Given the description of an element on the screen output the (x, y) to click on. 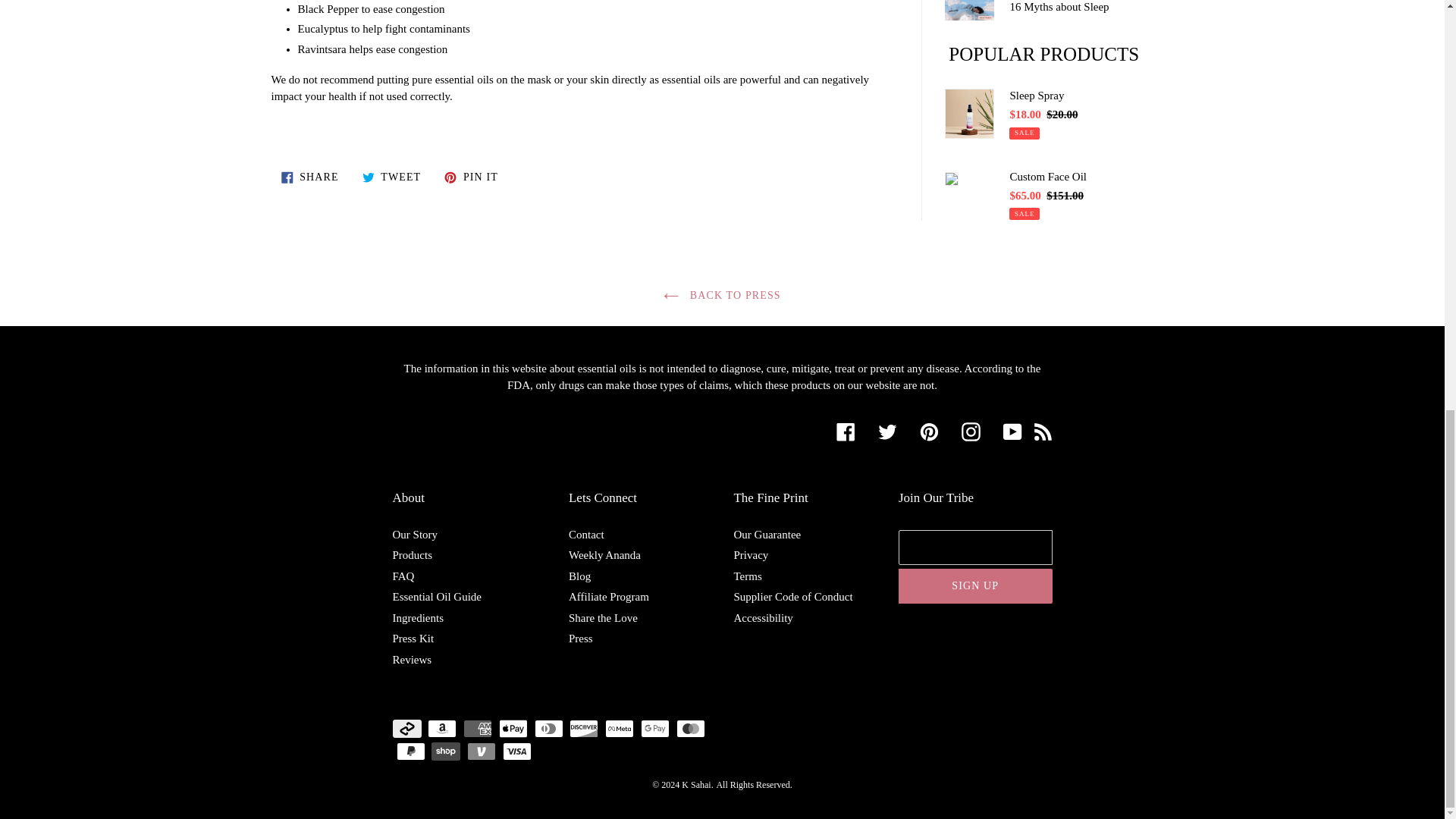
Instagram (969, 431)
Discover (583, 728)
Meta Pay (619, 728)
Apple Pay (513, 728)
BACK TO PRESS (721, 295)
Facebook (844, 431)
American Express (477, 728)
Pinterest (927, 431)
